Given the description of an element on the screen output the (x, y) to click on. 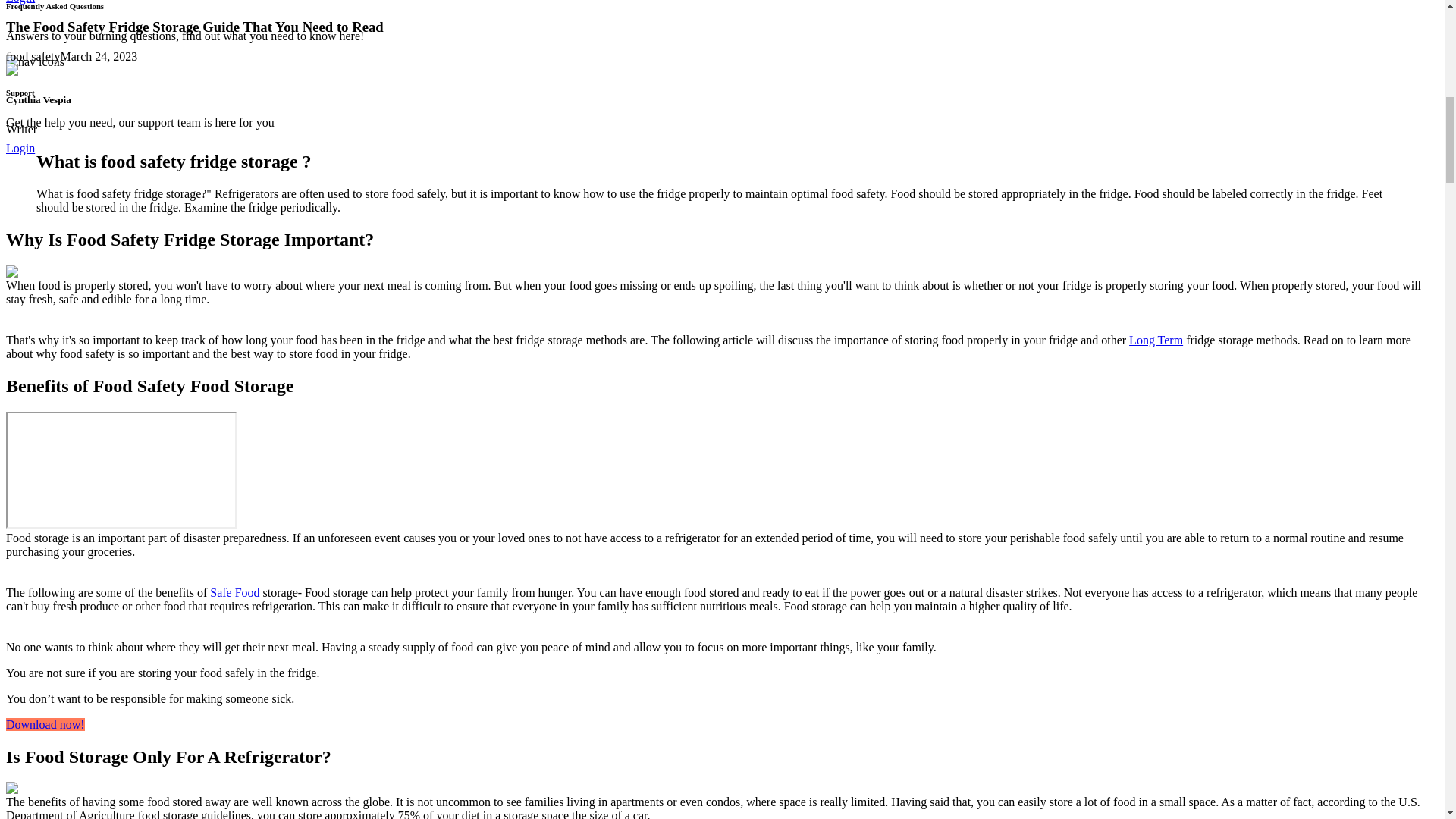
Long Term (1155, 339)
Safe Food (234, 592)
Login (19, 2)
Login (19, 147)
Download now! (44, 724)
